Given the description of an element on the screen output the (x, y) to click on. 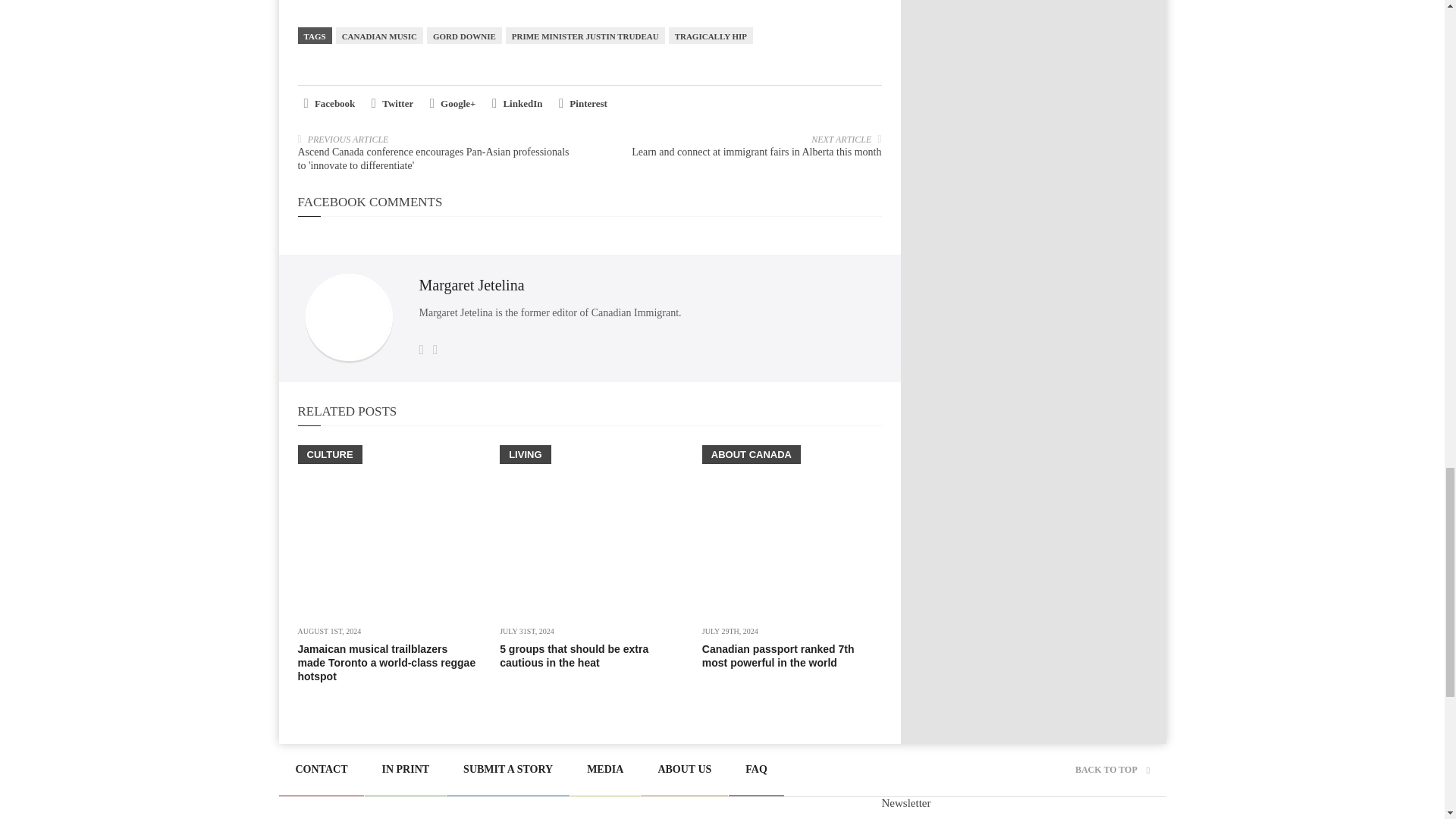
BACK TO TOP (1112, 769)
Posts by Margaret Jetelina (471, 284)
Learn and connect at immigrant fairs in Alberta this month (755, 152)
